Given the description of an element on the screen output the (x, y) to click on. 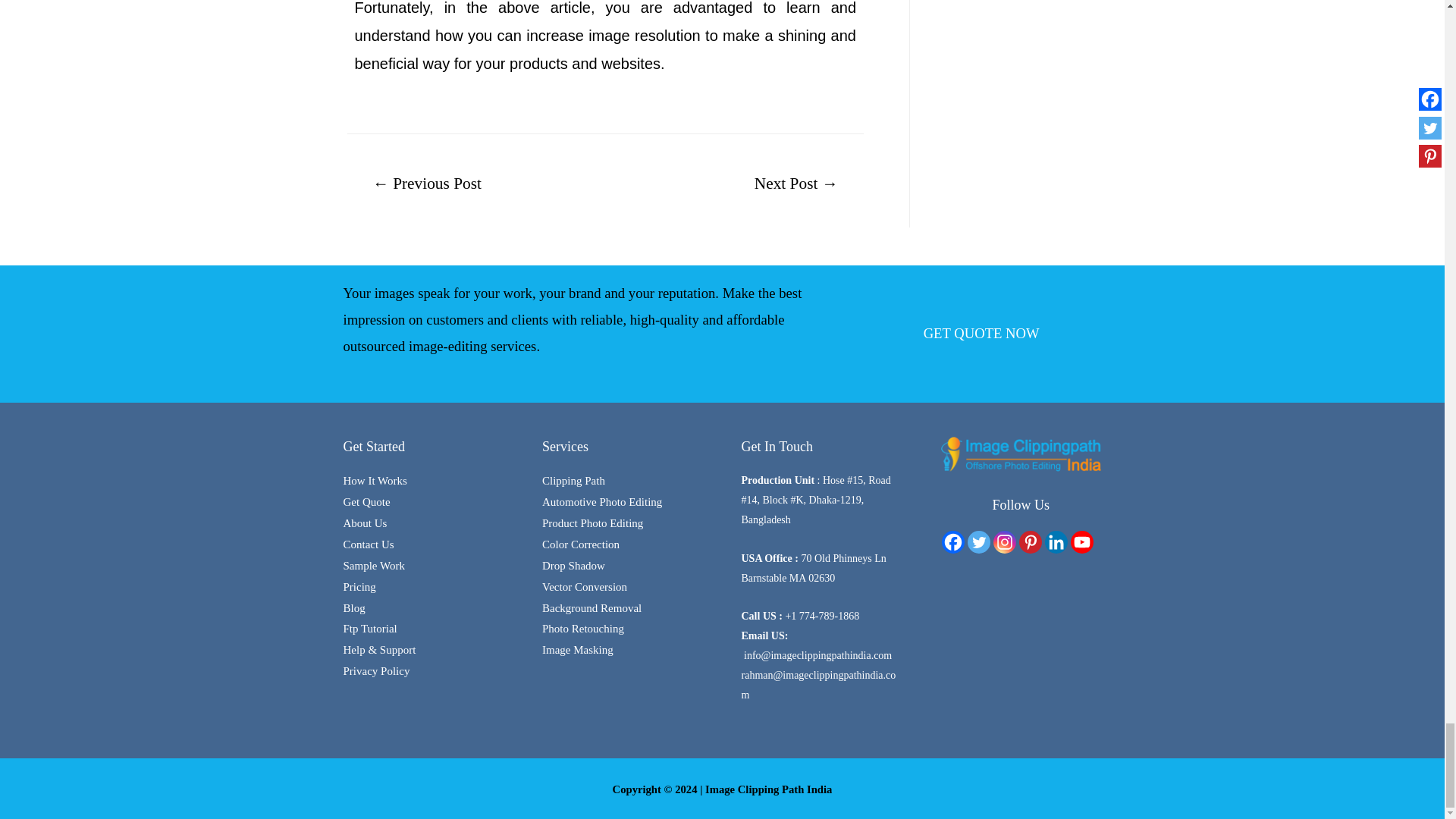
Pinterest (1030, 541)
Facebook (952, 541)
Youtube Channel (1081, 541)
Linkedin Company (1056, 541)
Instagram (1004, 541)
Twitter (979, 541)
